Given the description of an element on the screen output the (x, y) to click on. 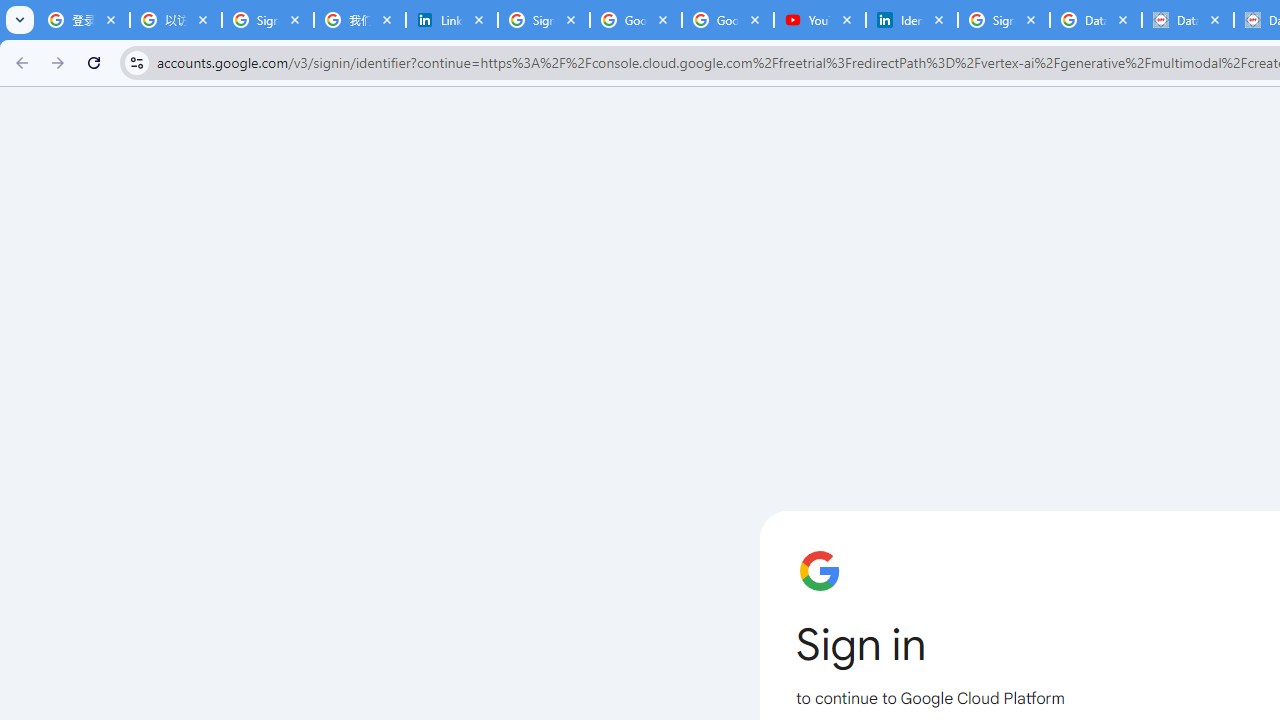
LinkedIn Privacy Policy (451, 20)
